Given the description of an element on the screen output the (x, y) to click on. 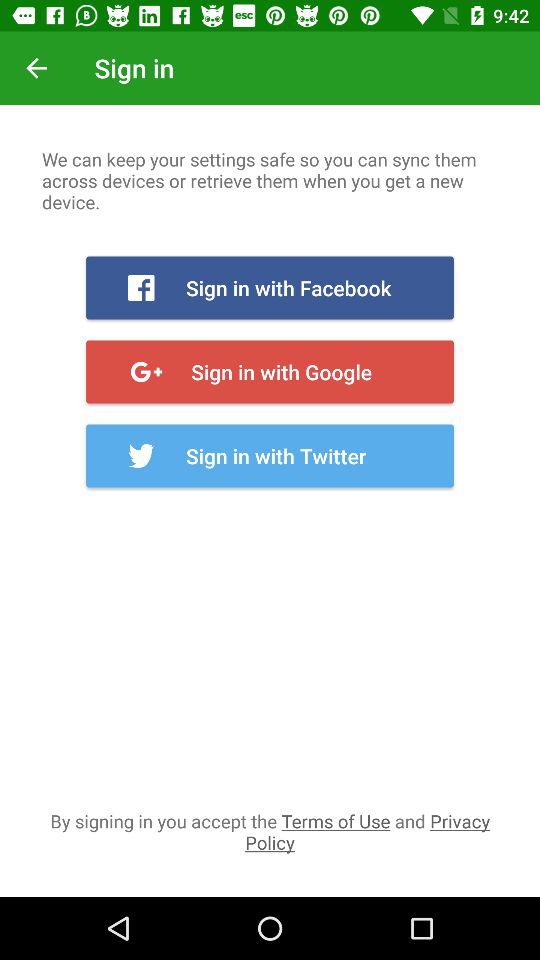
select the item above we can keep (36, 68)
